Given the description of an element on the screen output the (x, y) to click on. 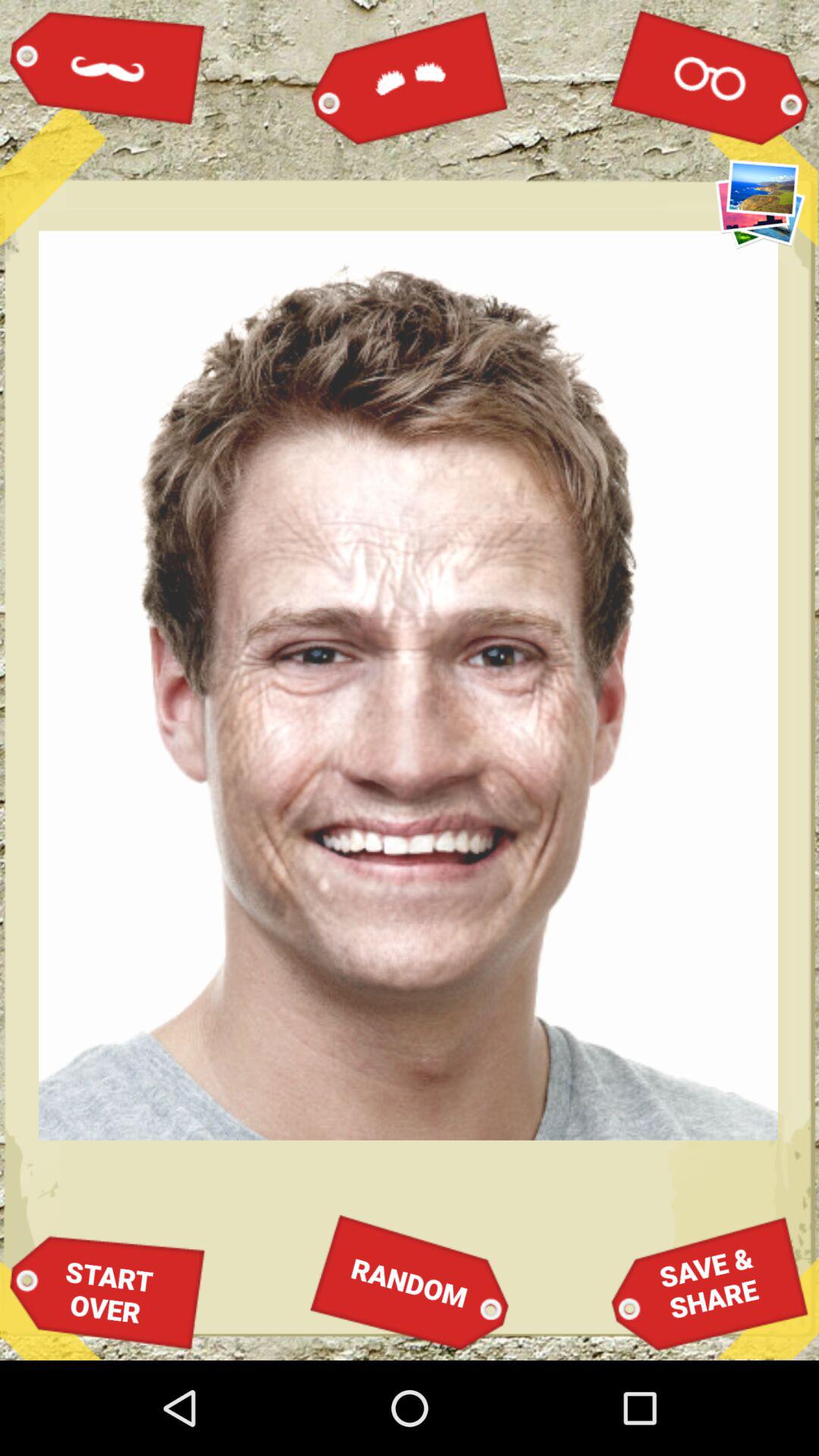
select item to the right of the random (709, 1282)
